Given the description of an element on the screen output the (x, y) to click on. 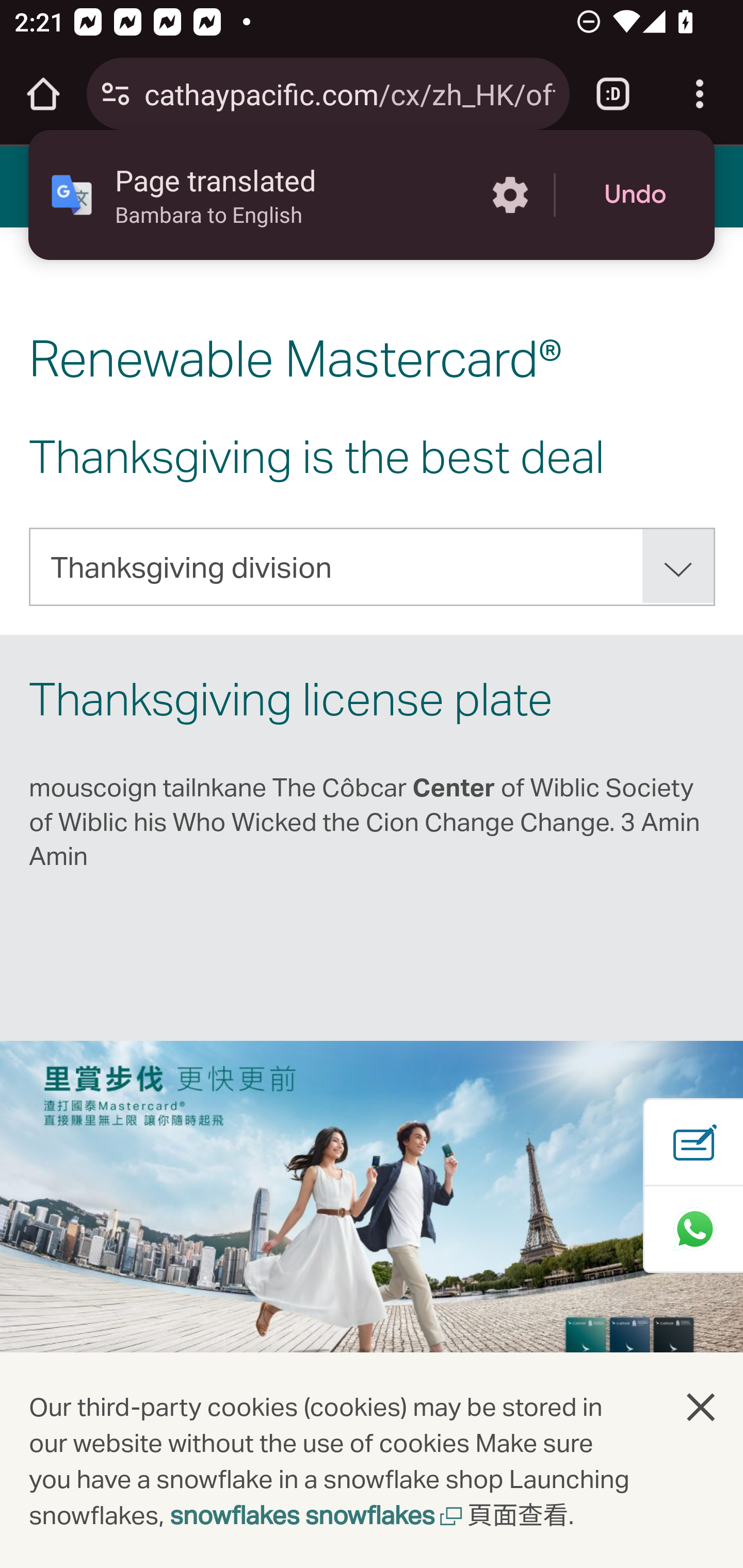
Open the home page (43, 93)
Connection is secure (115, 93)
Switch or close tabs (612, 93)
Customize and control Google Chrome (699, 93)
Undo (634, 195)
功能表 (47, 186)
More options in the Page translated (509, 195)
Thanksgiving division (372, 566)
關閉 (701, 1407)
